Given the description of an element on the screen output the (x, y) to click on. 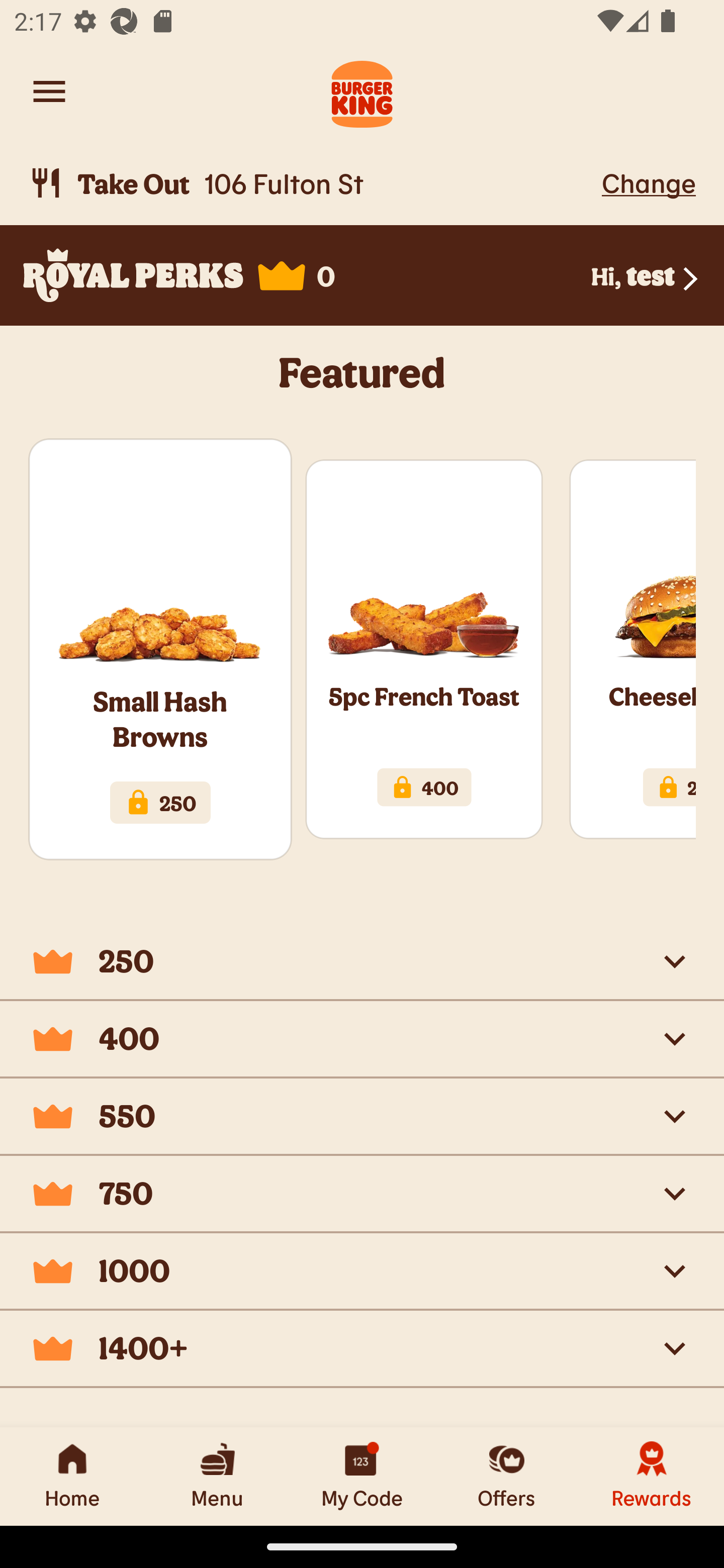
Burger King Logo. Navigate to Home (362, 91)
Navigate to account menu  (49, 91)
Take Out, 106 Fulton St  Take Out 106 Fulton St (311, 183)
Change (648, 182)
Home (72, 1475)
Menu (216, 1475)
My Code (361, 1475)
Offers (506, 1475)
Rewards (651, 1475)
